Given the description of an element on the screen output the (x, y) to click on. 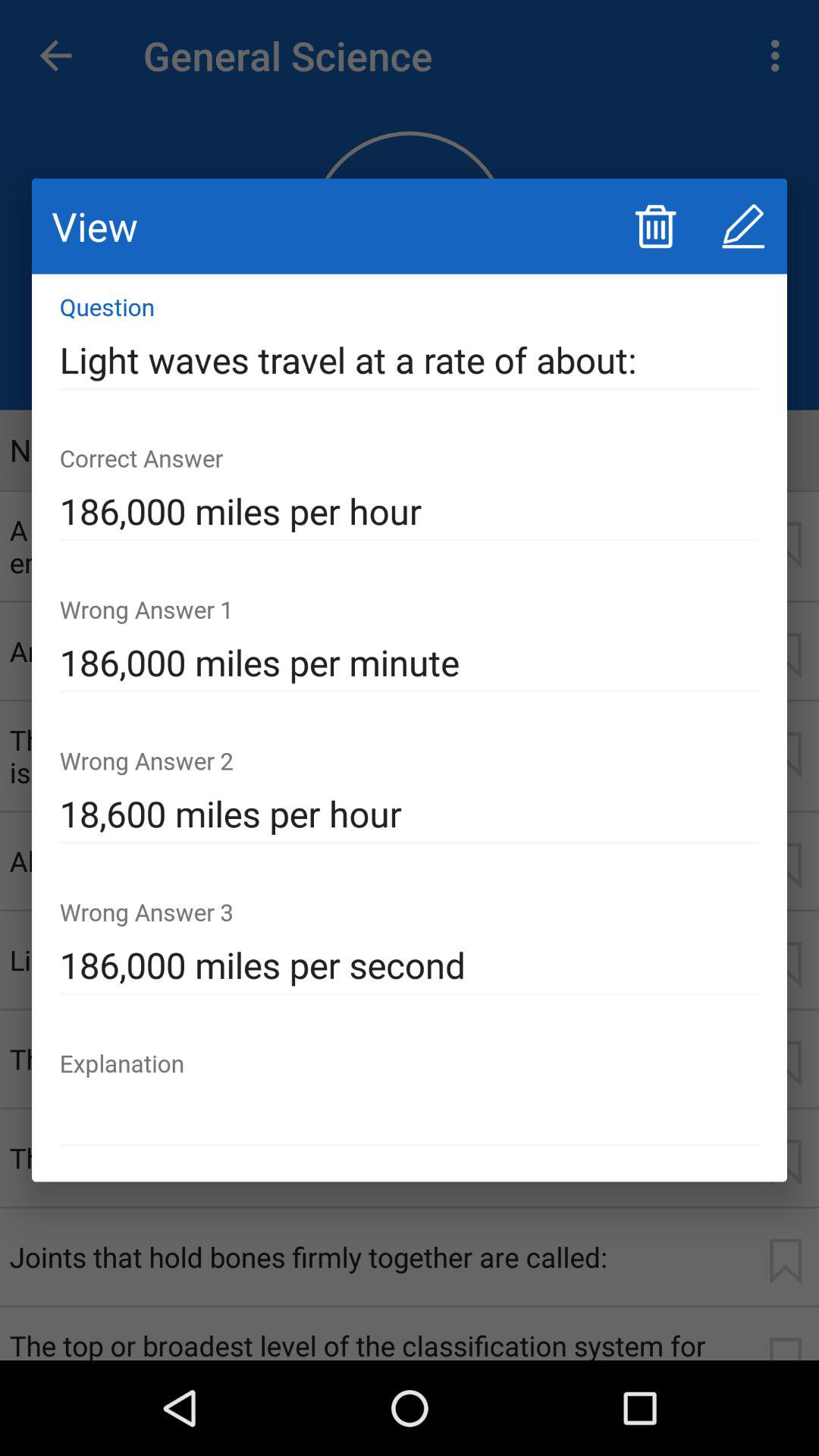
launch the item below view item (409, 360)
